Given the description of an element on the screen output the (x, y) to click on. 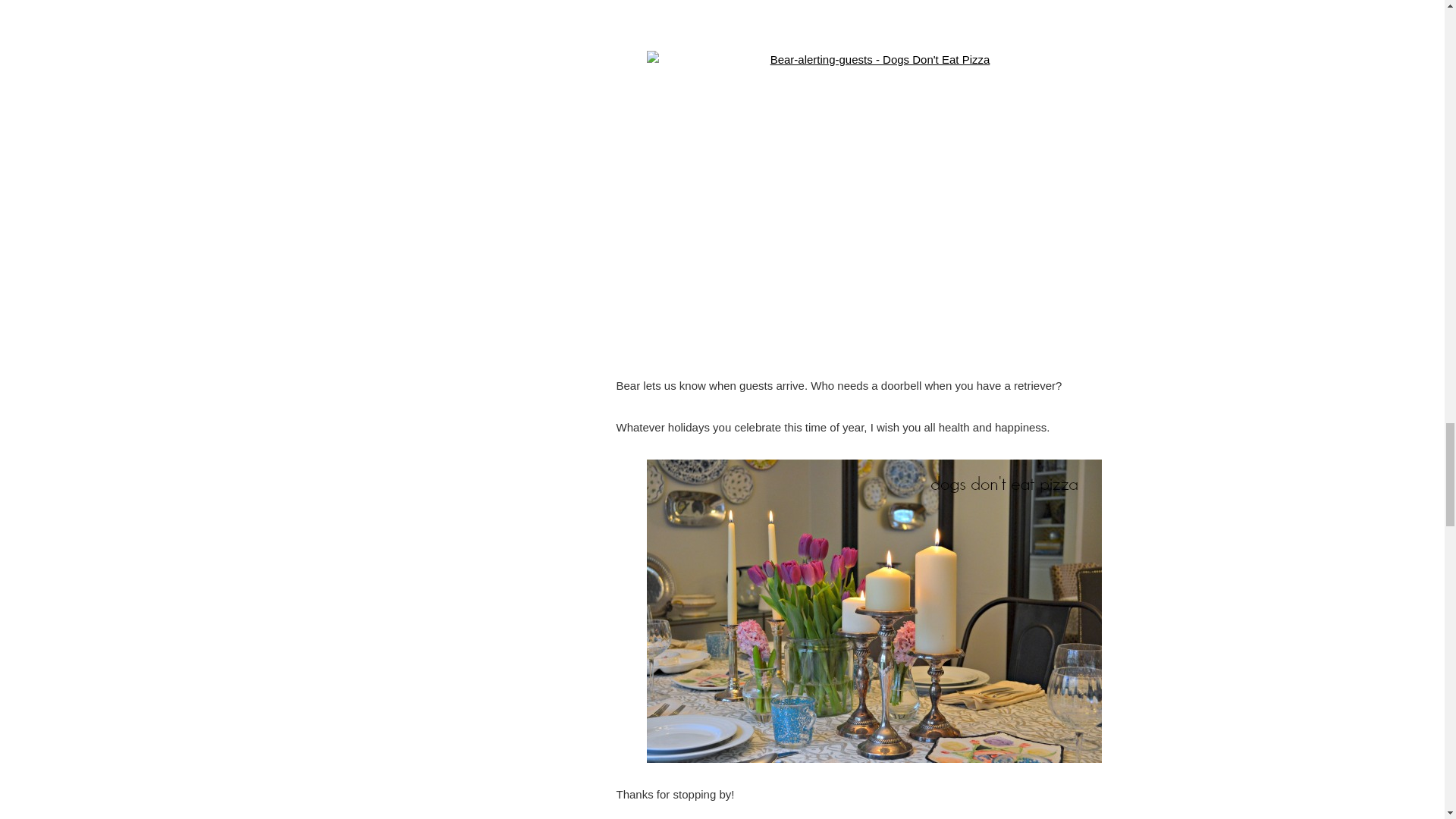
dining-room-Passover-table - Dogs Don't Eat Pizza (873, 13)
